Given the description of an element on the screen output the (x, y) to click on. 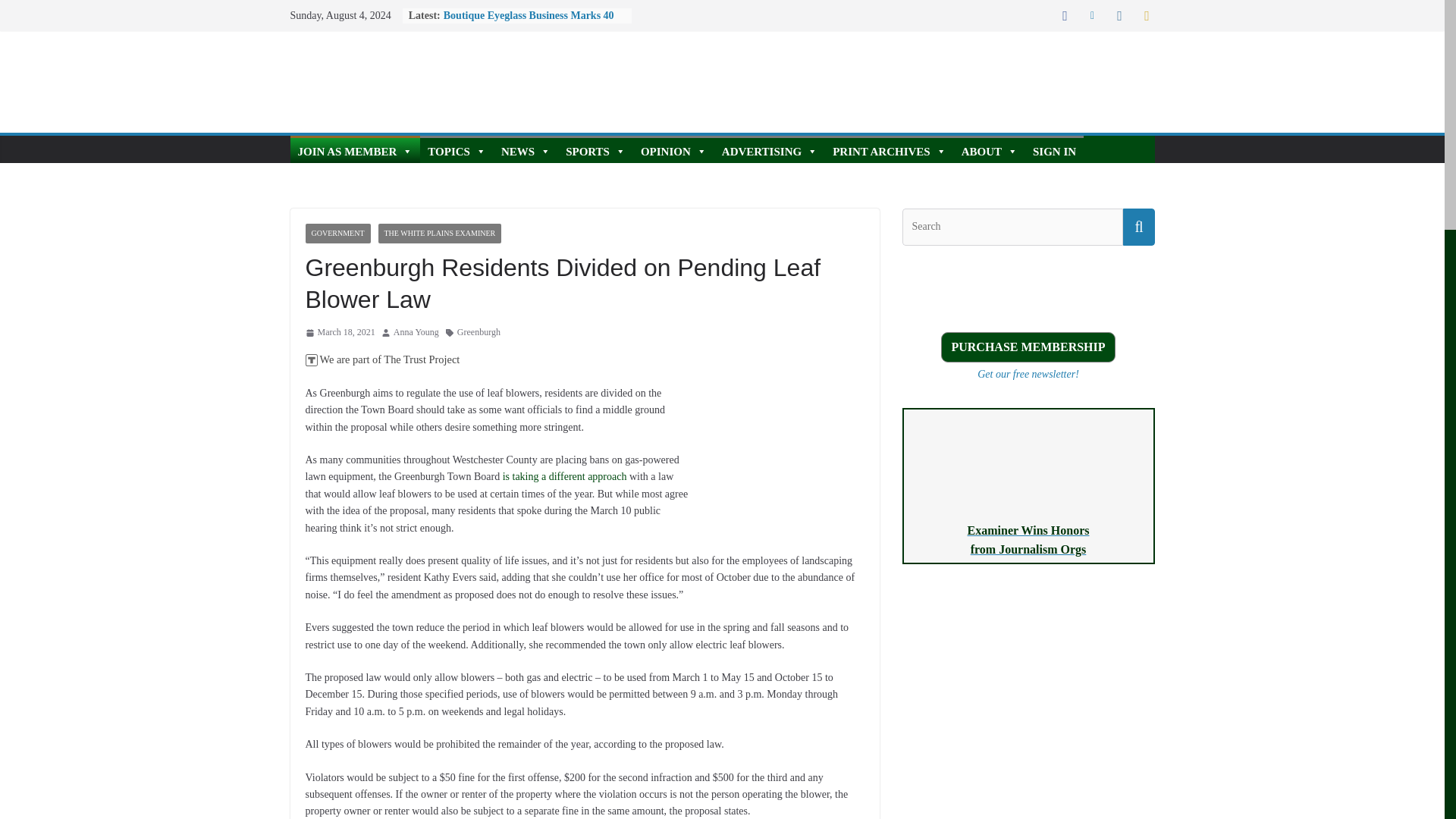
TOPICS (456, 148)
Anna Young (416, 332)
NEWS (525, 148)
10:19 pm (339, 332)
JOIN AS MEMBER (354, 148)
